Given the description of an element on the screen output the (x, y) to click on. 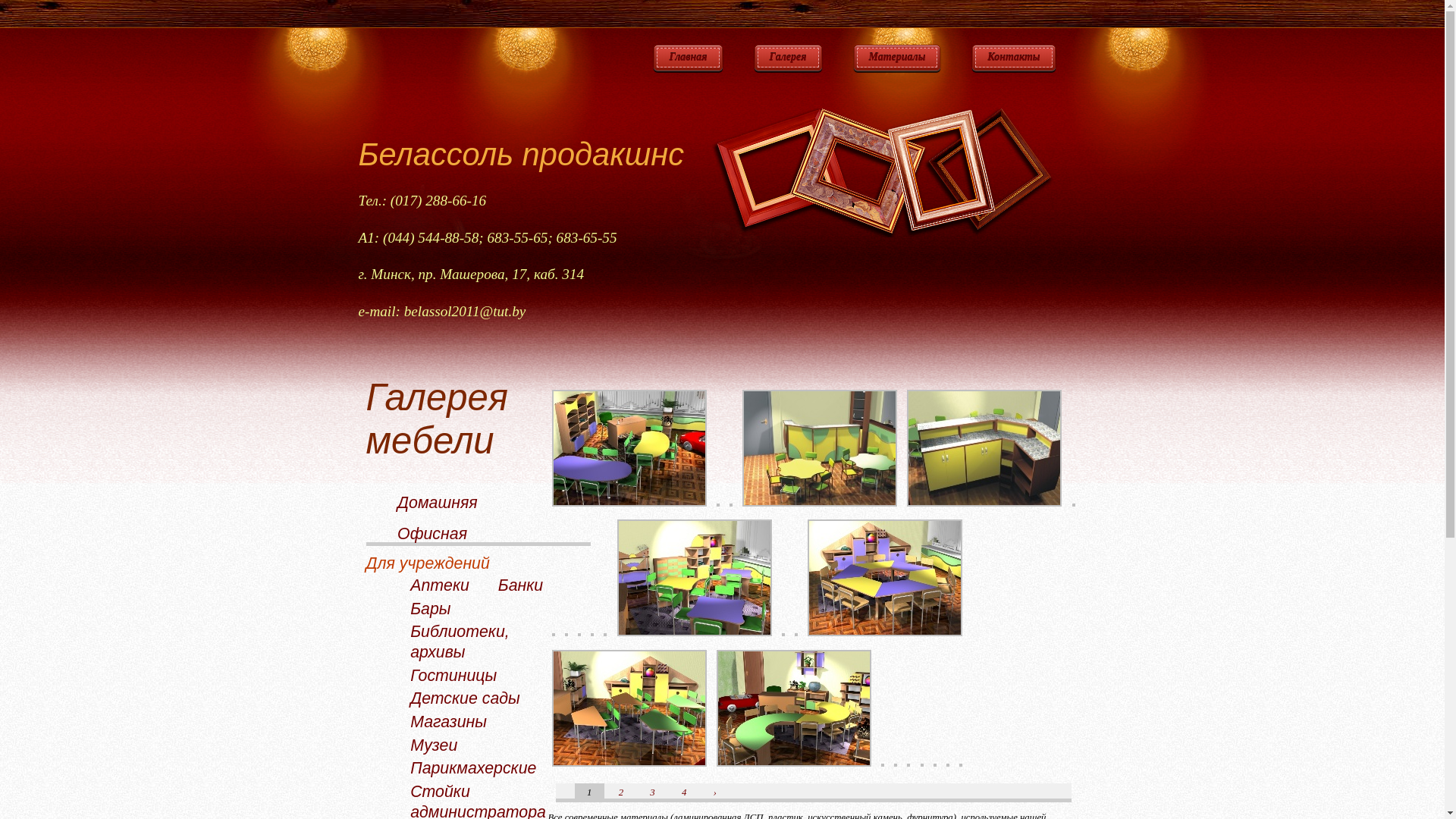
2 Element type: text (620, 792)
3 Element type: text (651, 792)
4 Element type: text (683, 792)
